Given the description of an element on the screen output the (x, y) to click on. 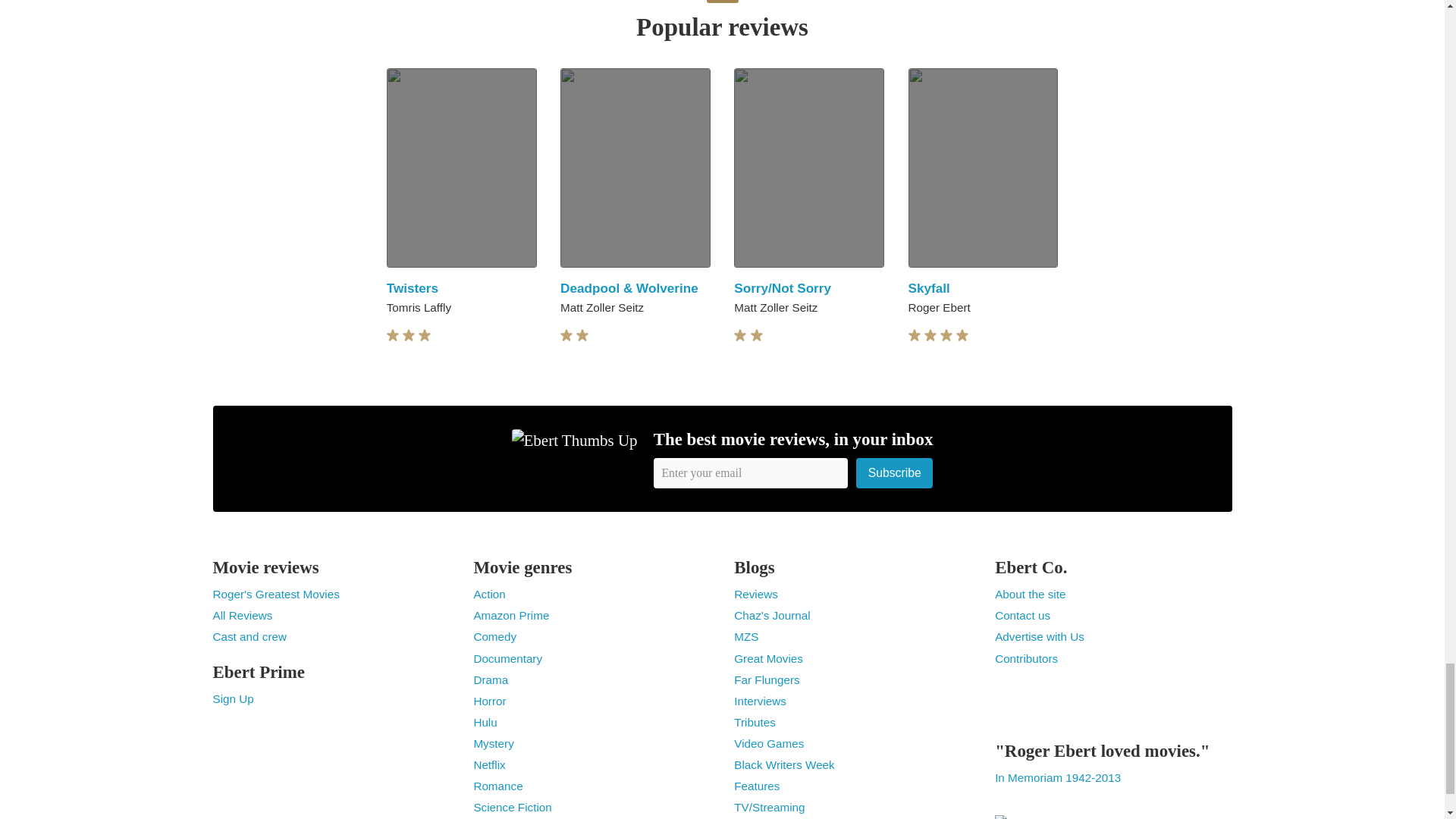
Subscribe (894, 472)
